Given the description of an element on the screen output the (x, y) to click on. 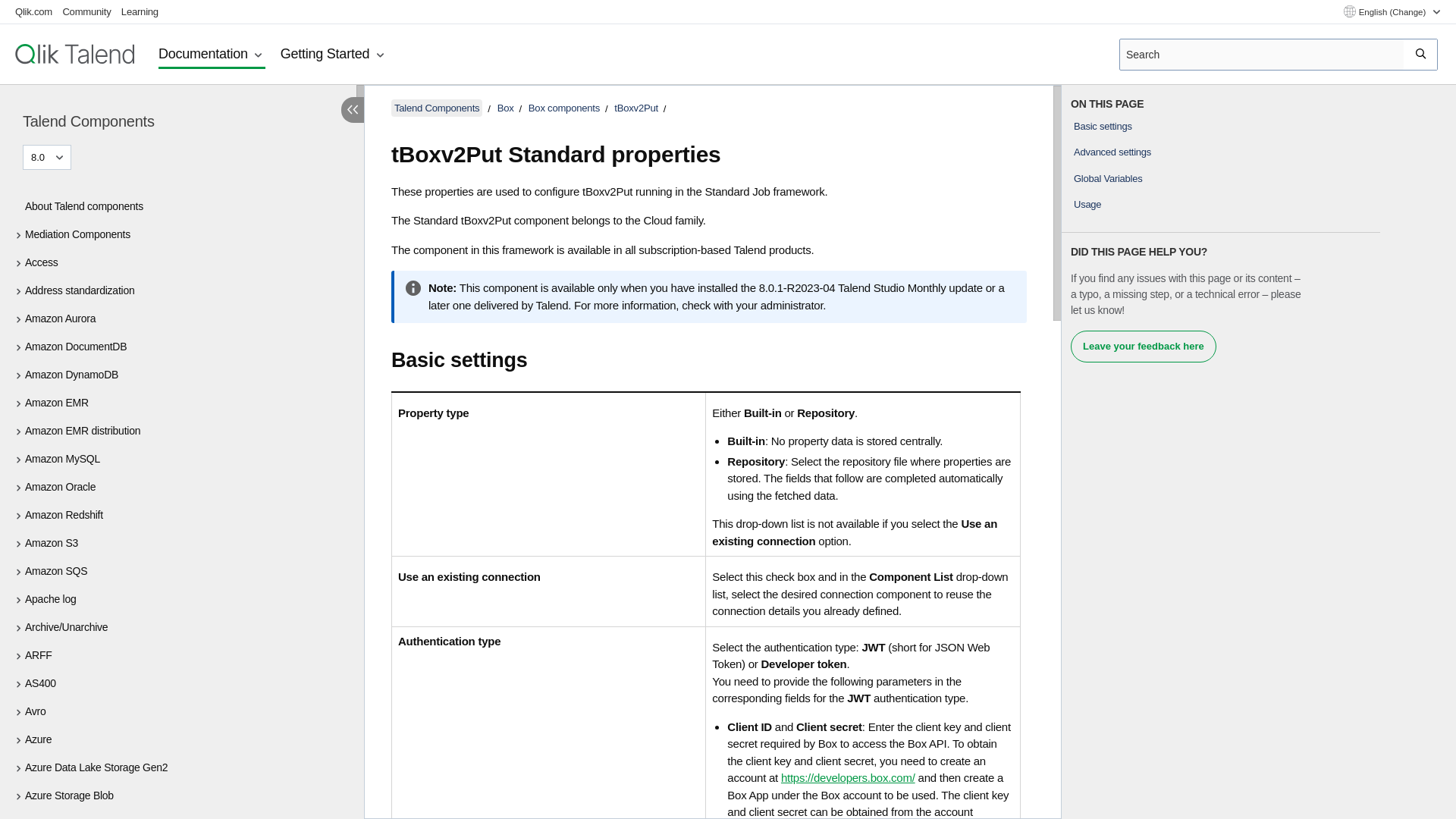
Community (86, 11)
Qlik.com (33, 11)
Documentation (211, 54)
Learning (139, 11)
Getting Started (334, 54)
Search (1421, 54)
